Given the description of an element on the screen output the (x, y) to click on. 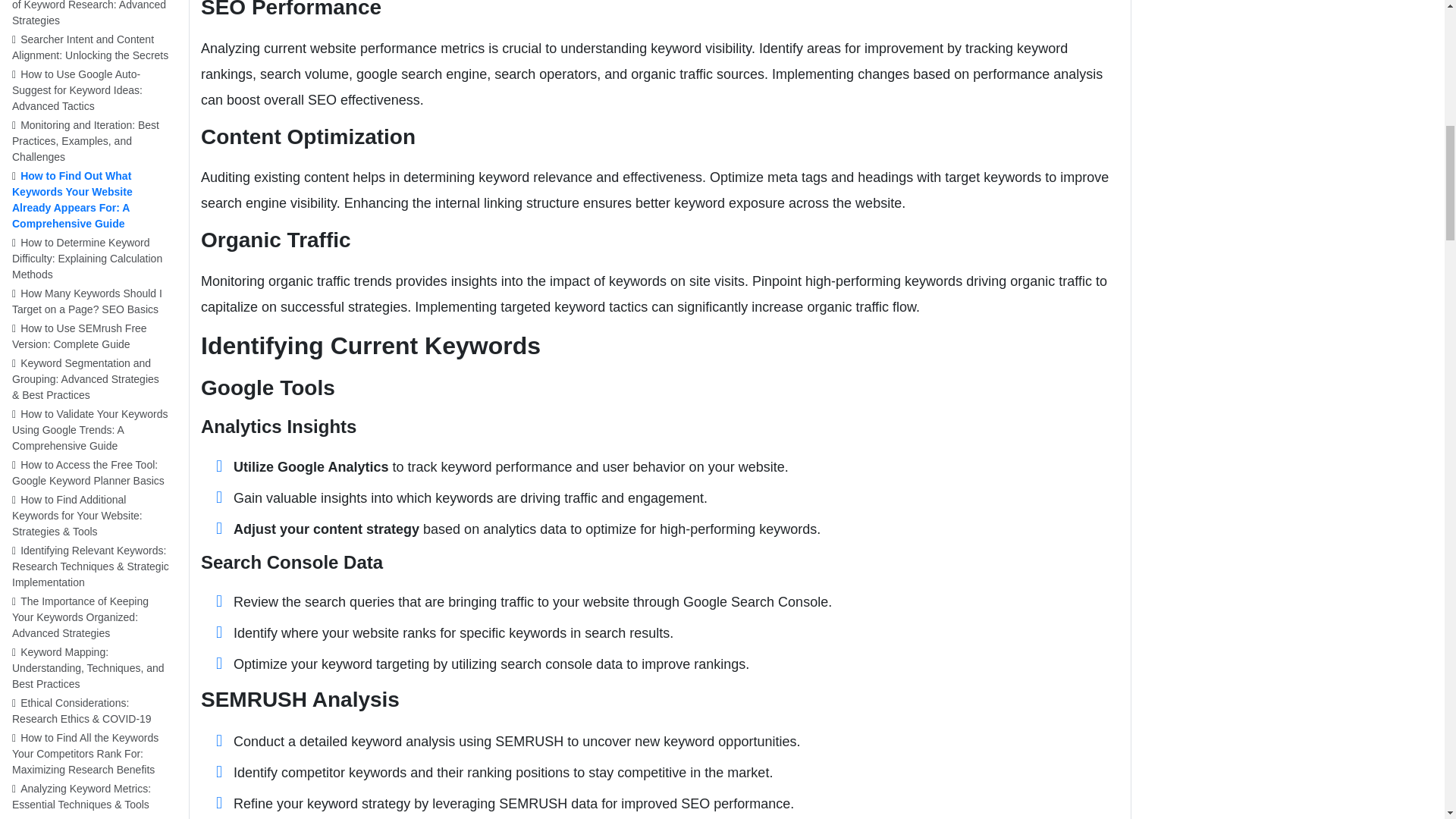
How to Use SEMrush Free Version: Complete Guide (93, 336)
How Many Keywords Should I Target on a Page? SEO Basics (93, 301)
Searcher Intent and Content Alignment: Unlocking the Secrets (93, 47)
How to Access the Free Tool: Google Keyword Planner Basics (93, 472)
